Given the description of an element on the screen output the (x, y) to click on. 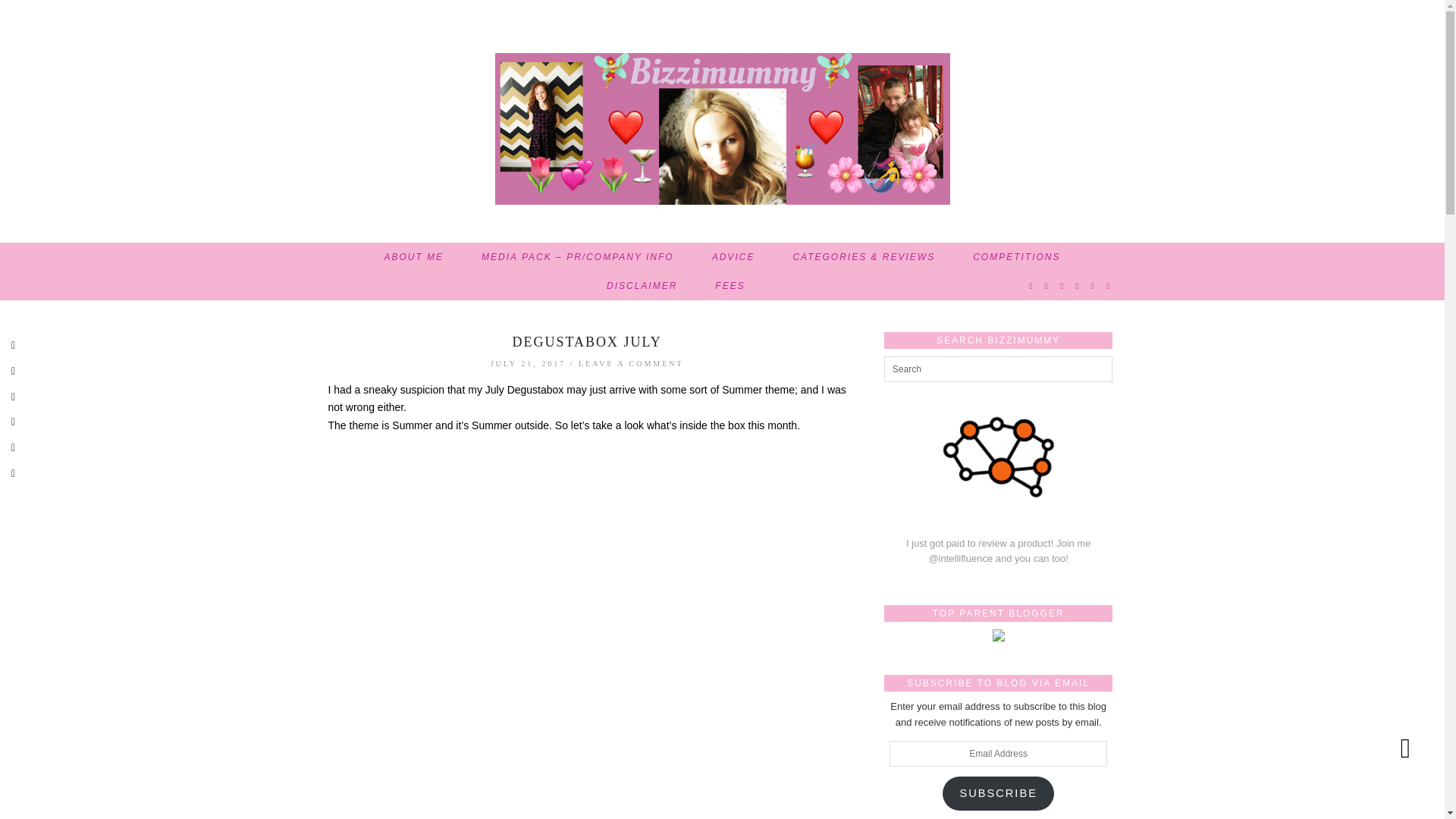
bloglovin (1093, 285)
Email (1108, 285)
twitter (1031, 285)
youtube (1077, 285)
facebook (1061, 285)
instagram (1047, 285)
ABOUT ME (414, 256)
DISCLAIMER (641, 285)
COMPETITIONS (1015, 256)
LEAVE A COMMENT (631, 363)
FEES (728, 285)
ADVICE (733, 256)
